Given the description of an element on the screen output the (x, y) to click on. 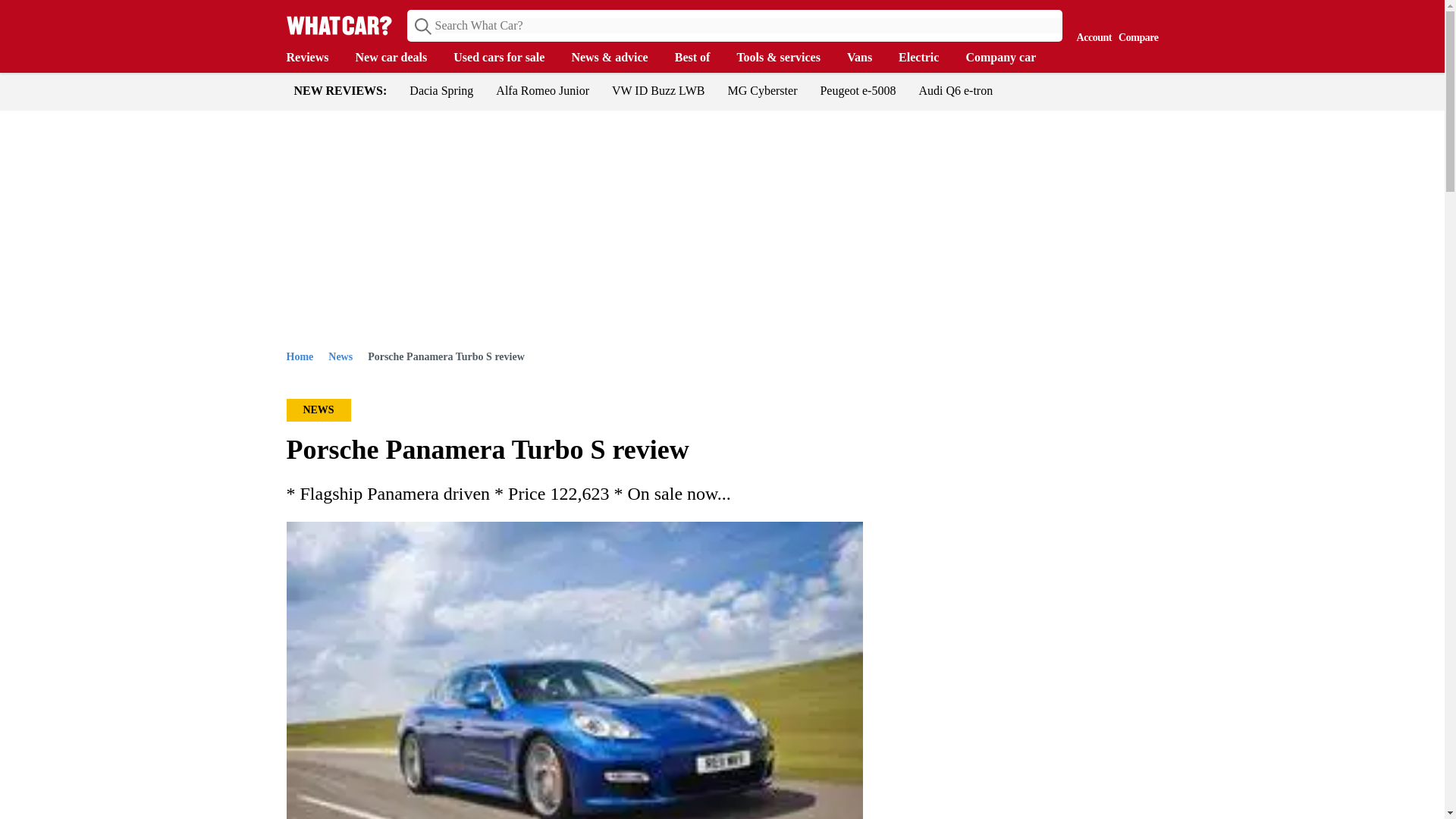
Reviews (314, 57)
Account (1091, 24)
Used cars for sale (505, 57)
New car deals (398, 57)
Compare (1134, 24)
Vans (866, 57)
Electric (925, 57)
Company car (1008, 57)
Best of (700, 57)
WhatCar? logo (338, 25)
